Given the description of an element on the screen output the (x, y) to click on. 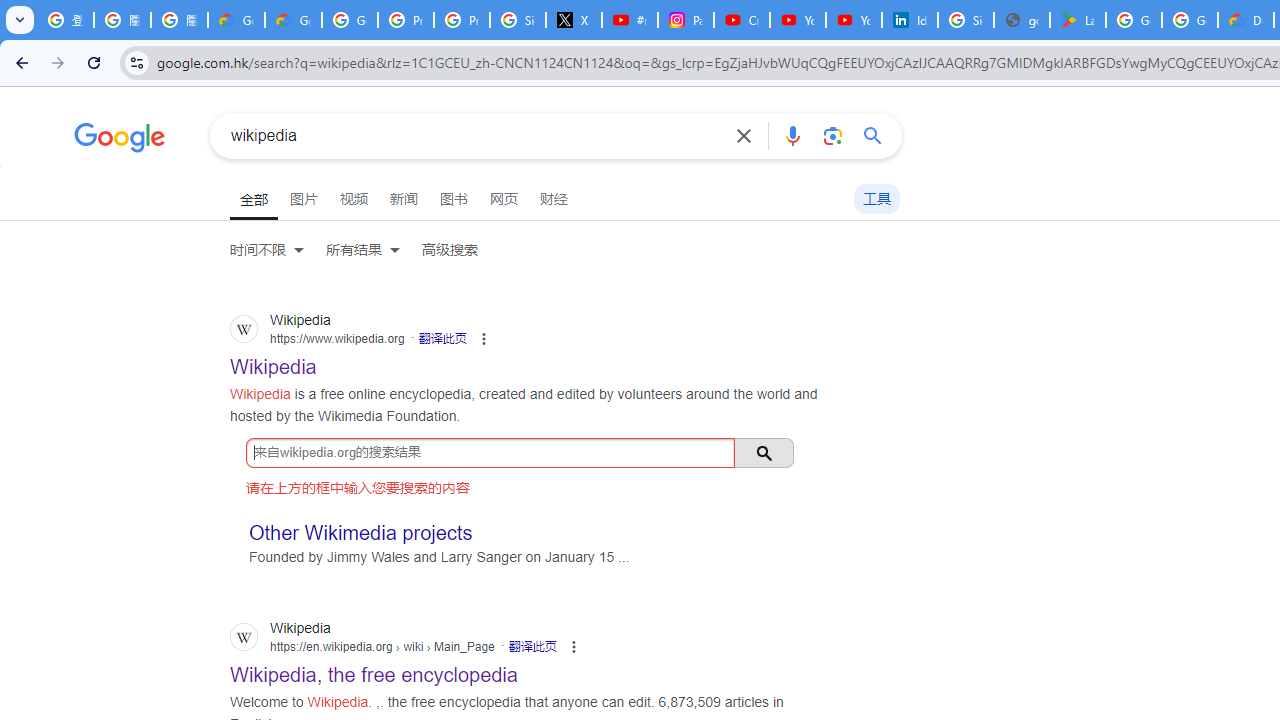
Google Workspace - Specific Terms (1190, 20)
Google (120, 139)
Privacy Help Center - Policies Help (405, 20)
X (573, 20)
